Given the description of an element on the screen output the (x, y) to click on. 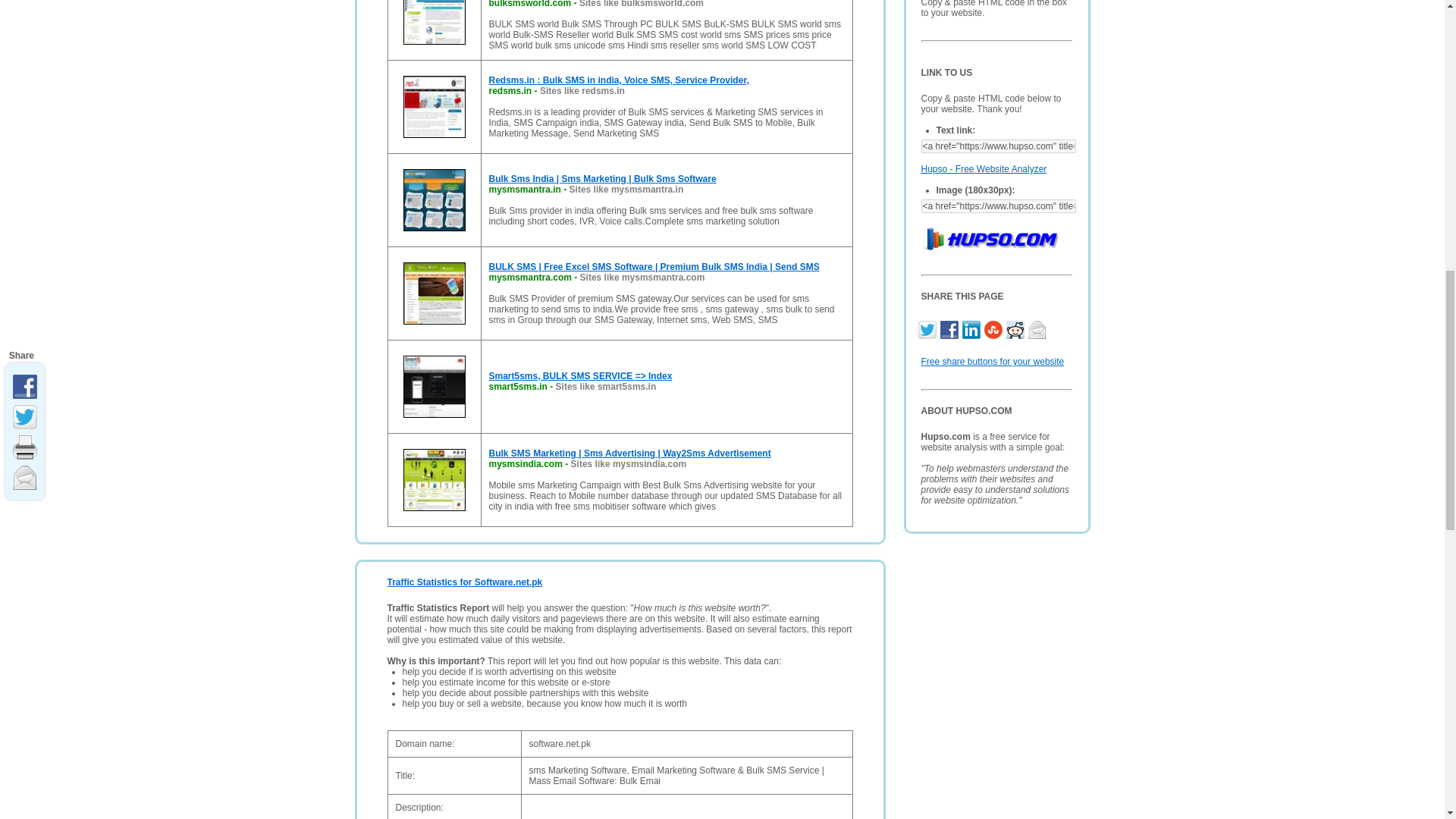
Linkedin (972, 327)
Hupso - Free Website Analyzer (983, 168)
Twitter (928, 327)
Free share buttons for your website (992, 361)
Sites like mysmsmantra.com (641, 276)
Facebook (951, 327)
Sites like bulksmsworld.com (641, 4)
Reddit (1016, 327)
Hupso - Free Website Analyzer (988, 236)
Email (1038, 327)
Sites like mysmsmantra.in (626, 189)
Sites like redsms.in (582, 90)
Redsms.in : Bulk SMS in india, Voice SMS, Service Provider, (617, 80)
Hupso - Free Website Analyzer (983, 168)
StumbleUpon (995, 327)
